Given the description of an element on the screen output the (x, y) to click on. 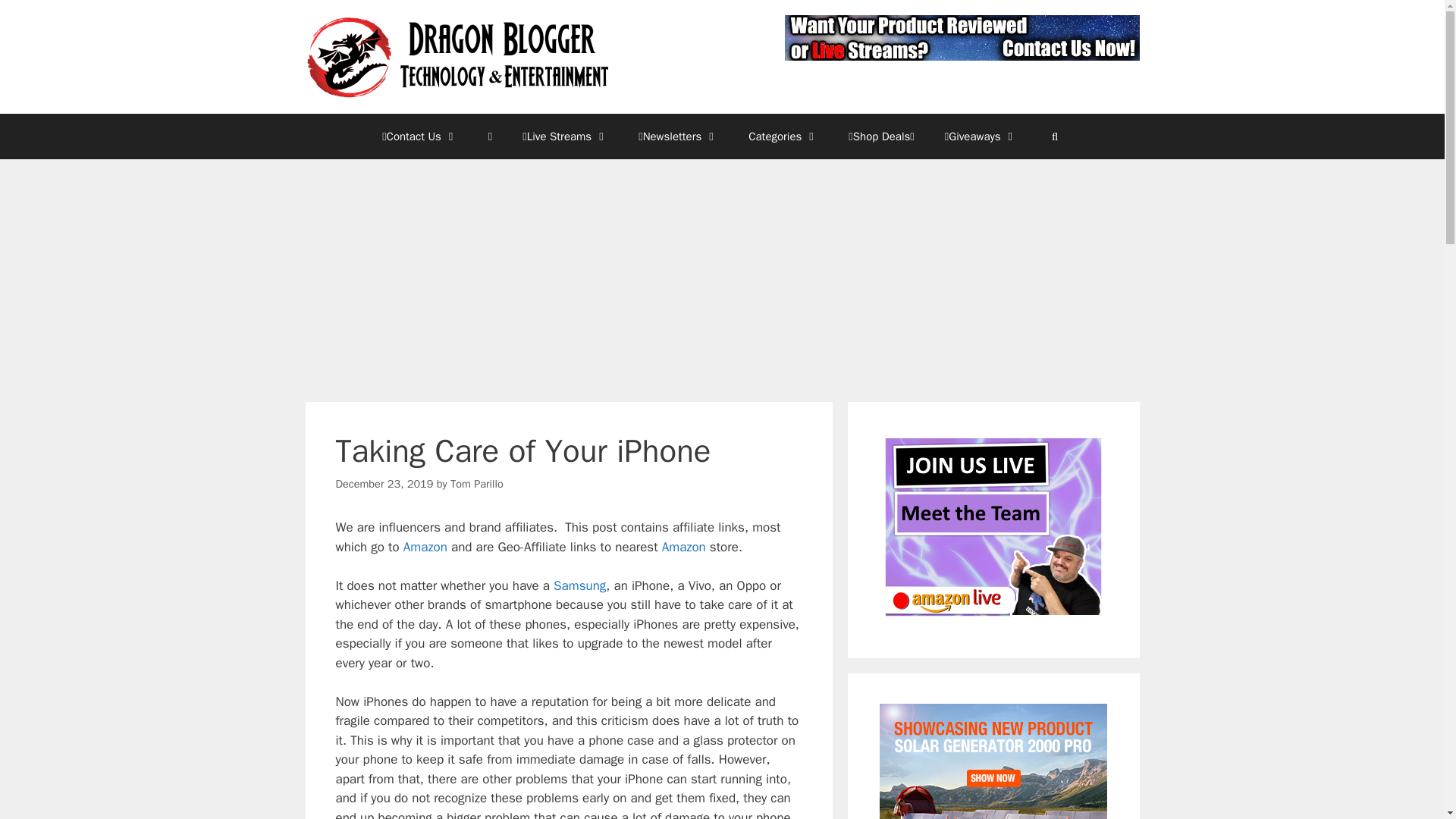
Amazon Homepage (684, 546)
Amazon Homepage (424, 546)
View all posts by Tom Parillo (476, 483)
Categories (782, 135)
Samsung TV (579, 585)
